Given the description of an element on the screen output the (x, y) to click on. 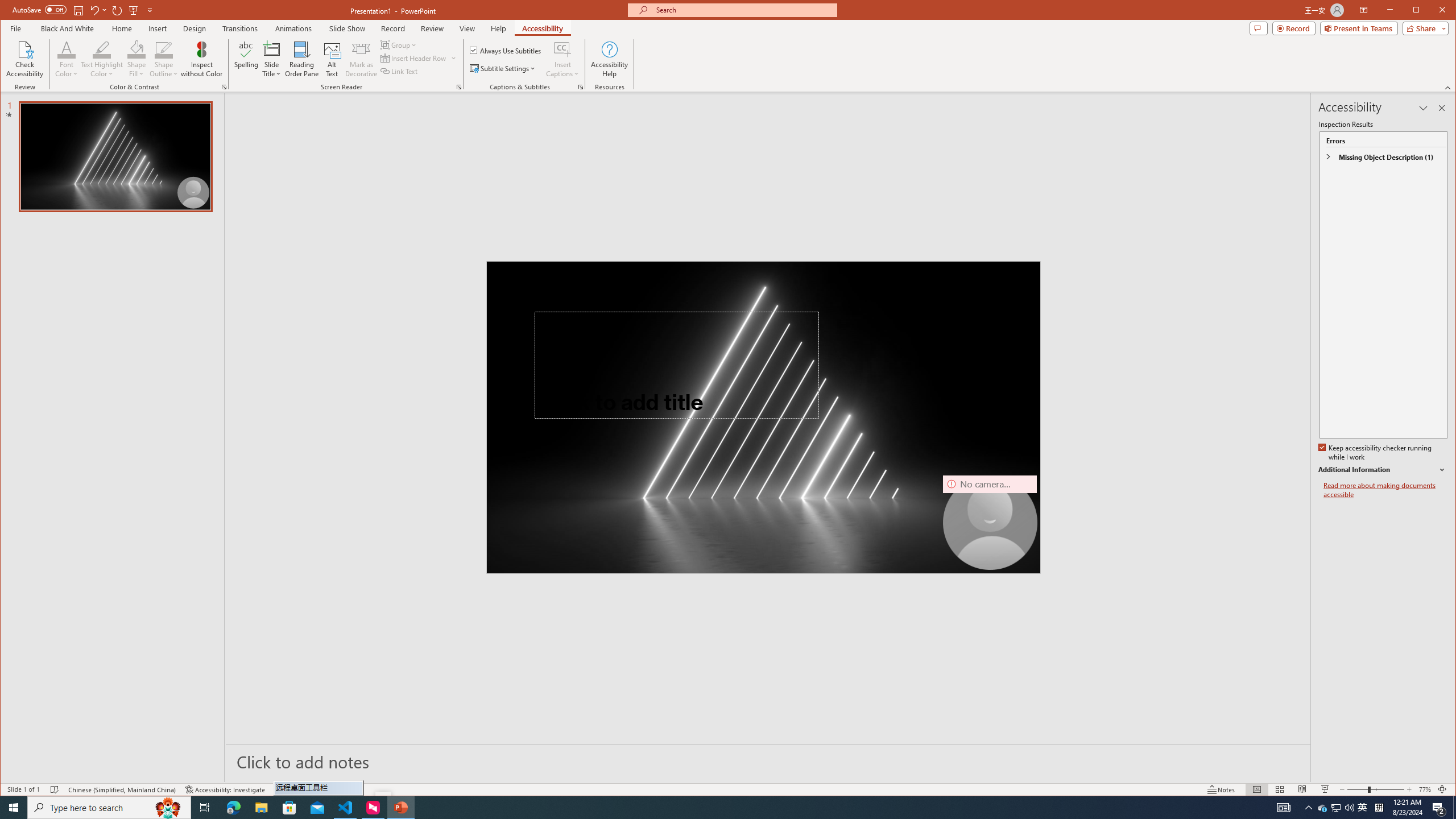
Neon laser lights aligned to form a triangle (762, 417)
Reading Order Pane (301, 59)
